Given the description of an element on the screen output the (x, y) to click on. 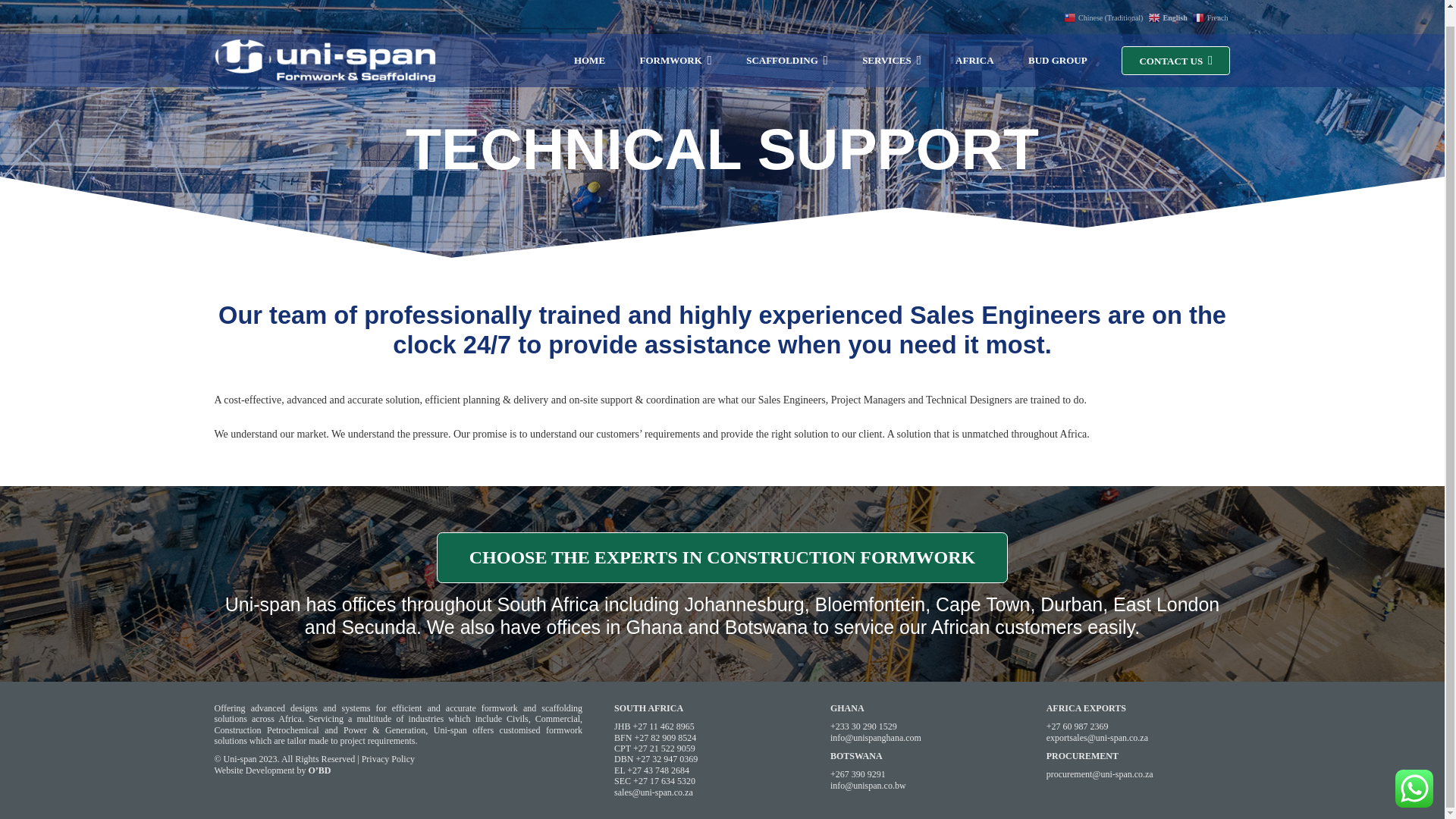
French (1211, 3)
English (1168, 3)
CONTACT US (1175, 44)
SCAFFOLDING (786, 44)
CONTACT US (722, 557)
BUD GROUP (1057, 44)
FORMWORK (675, 44)
SERVICES (891, 44)
AFRICA (974, 44)
